Given the description of an element on the screen output the (x, y) to click on. 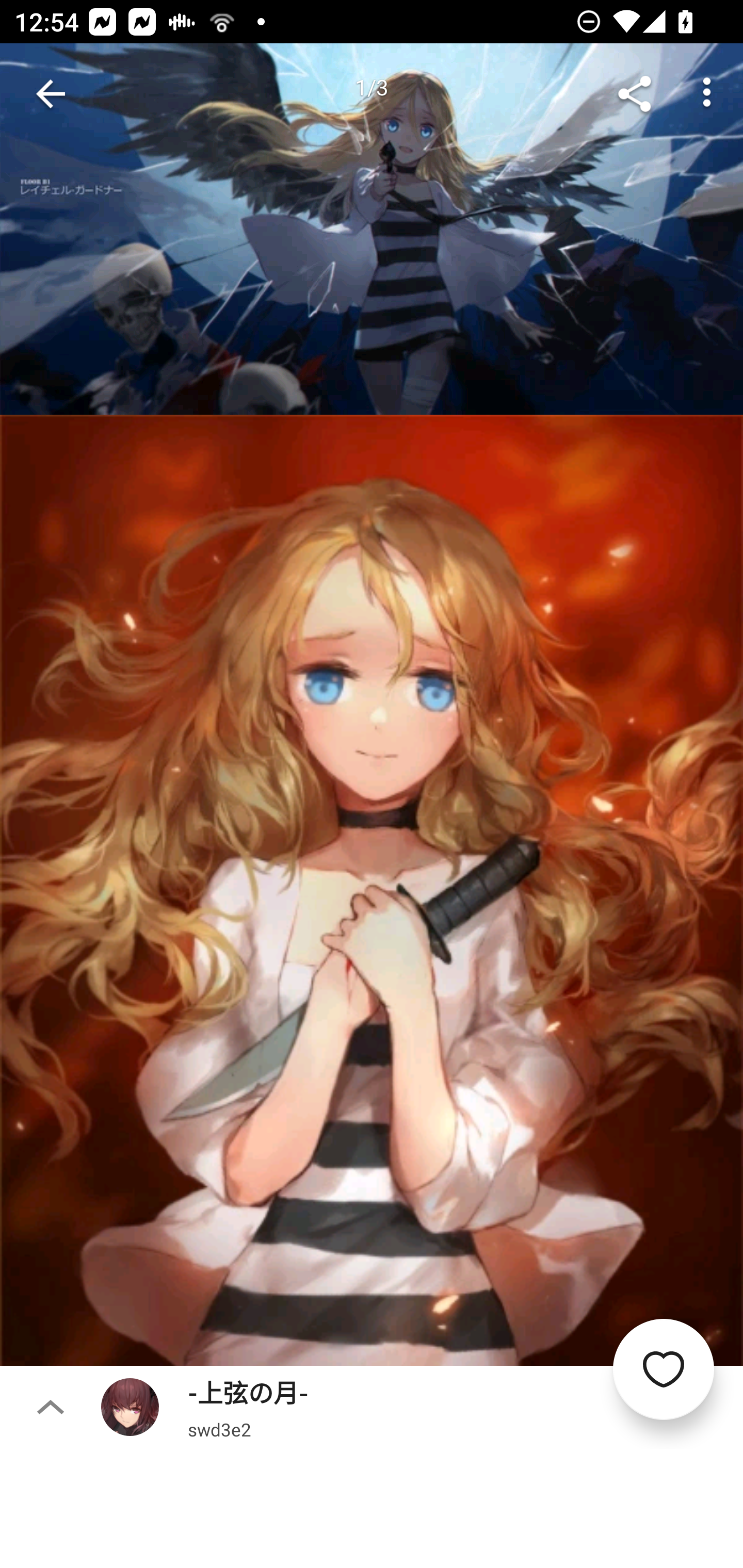
Share (634, 93)
More options (706, 93)
-上弦の月- swd3e2 (422, 1406)
swd3e2 (219, 1428)
